Given the description of an element on the screen output the (x, y) to click on. 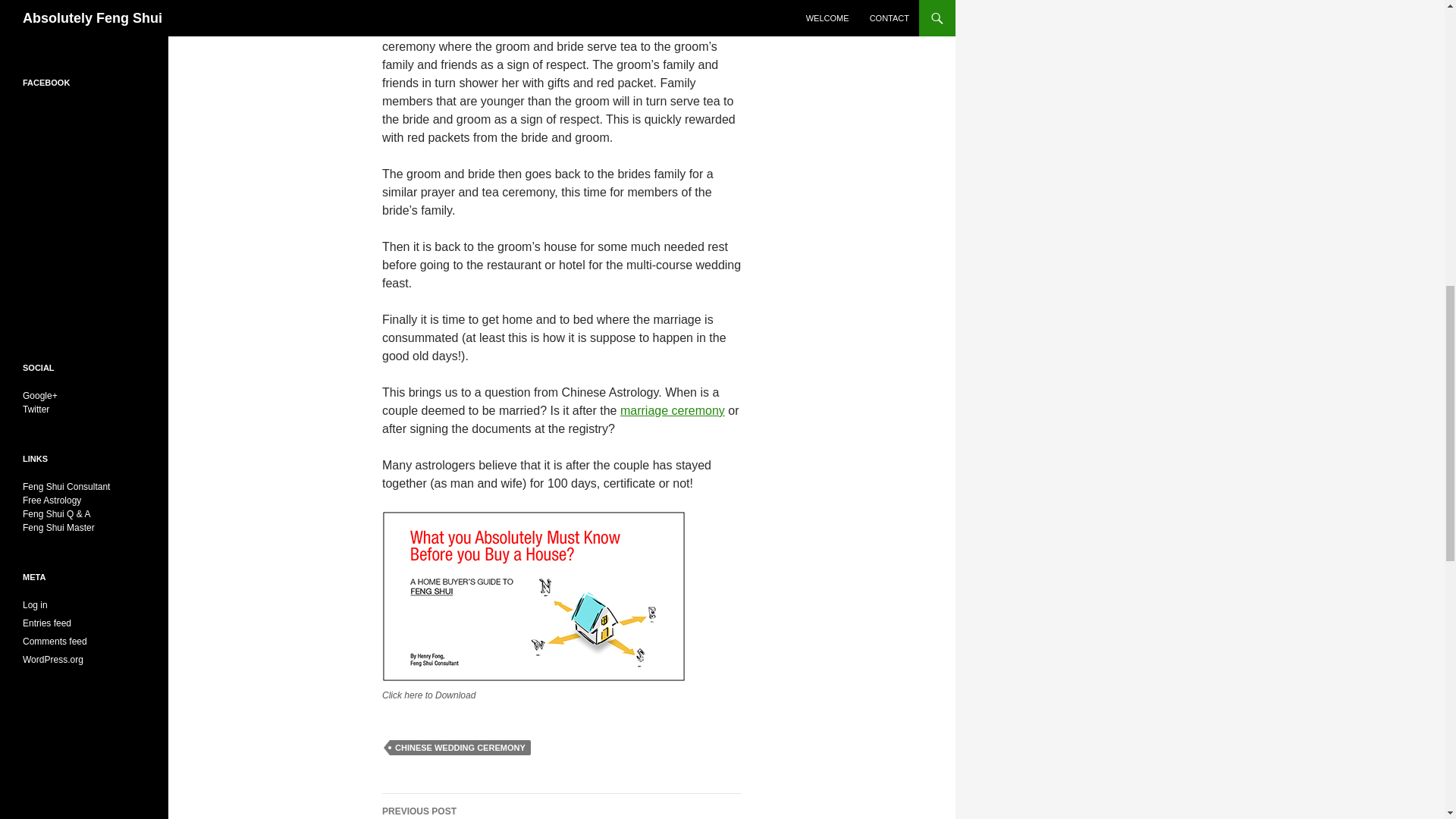
marriage ceremony (561, 806)
Chinese Marriage Traditions (672, 410)
CHINESE WEDDING CEREMONY (672, 410)
